Given the description of an element on the screen output the (x, y) to click on. 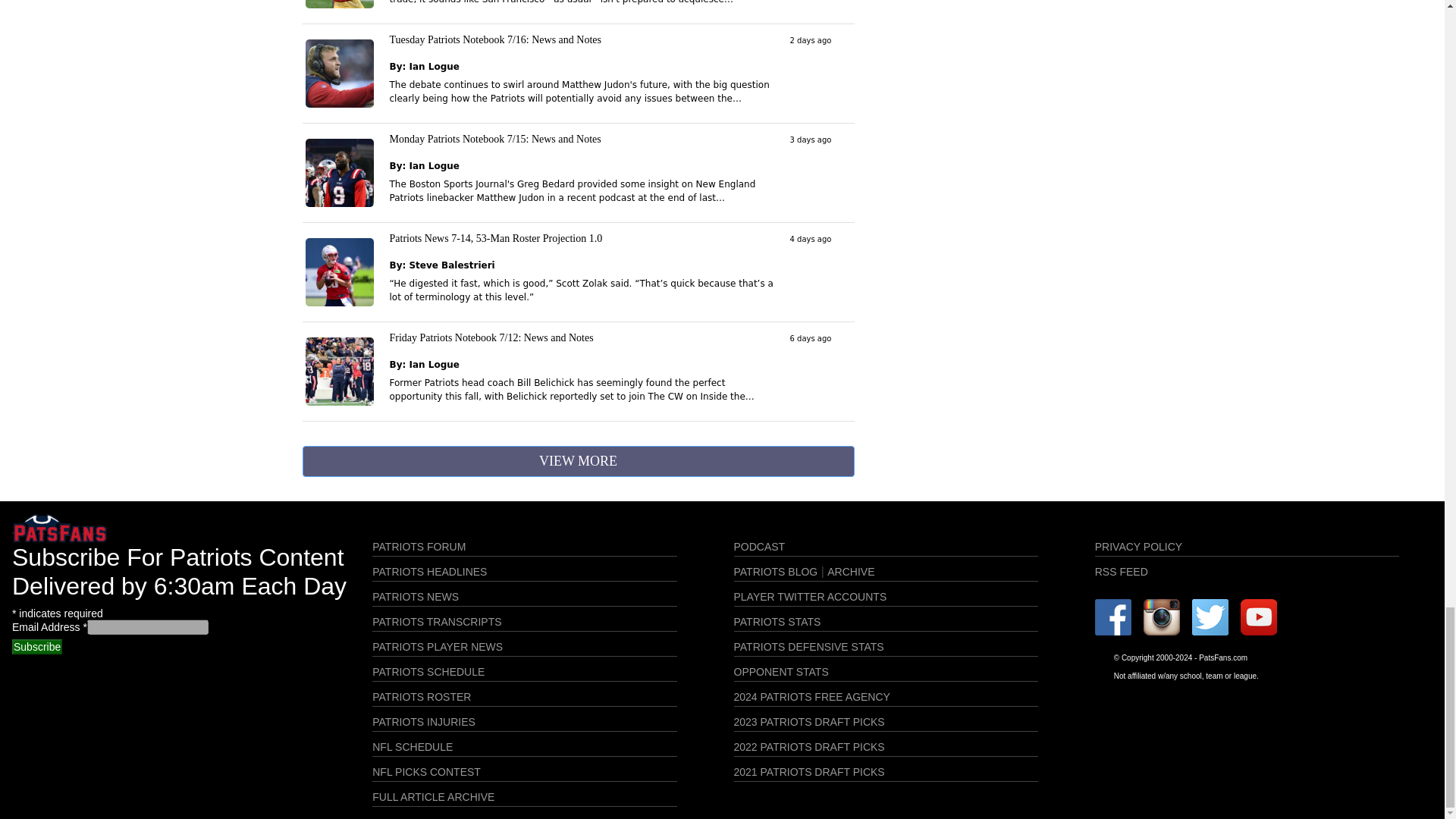
Subscribe (36, 646)
